Given the description of an element on the screen output the (x, y) to click on. 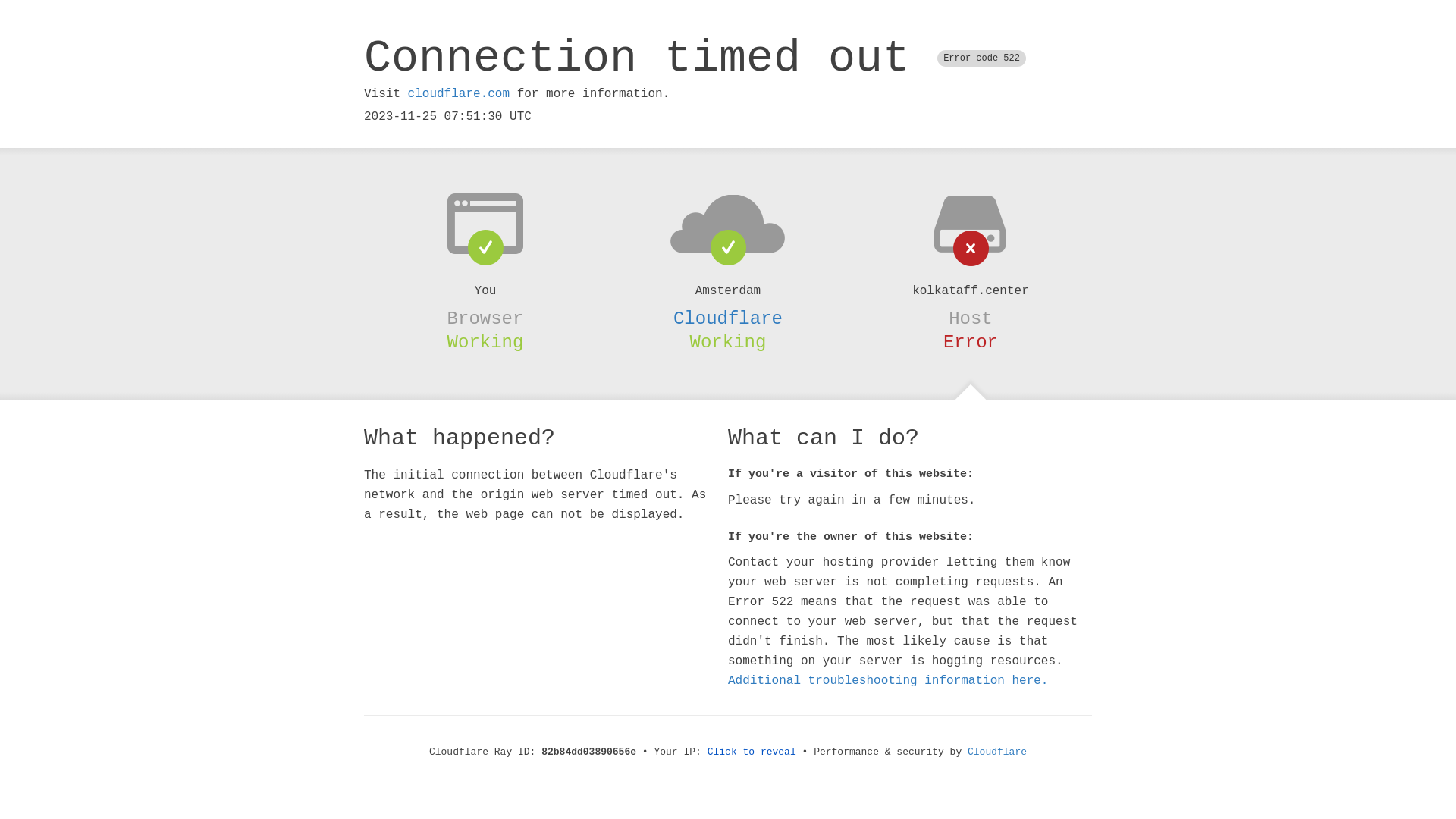
Click to reveal Element type: text (751, 751)
Additional troubleshooting information here. Element type: text (888, 680)
Cloudflare Element type: text (727, 318)
cloudflare.com Element type: text (458, 93)
Cloudflare Element type: text (996, 751)
